Given the description of an element on the screen output the (x, y) to click on. 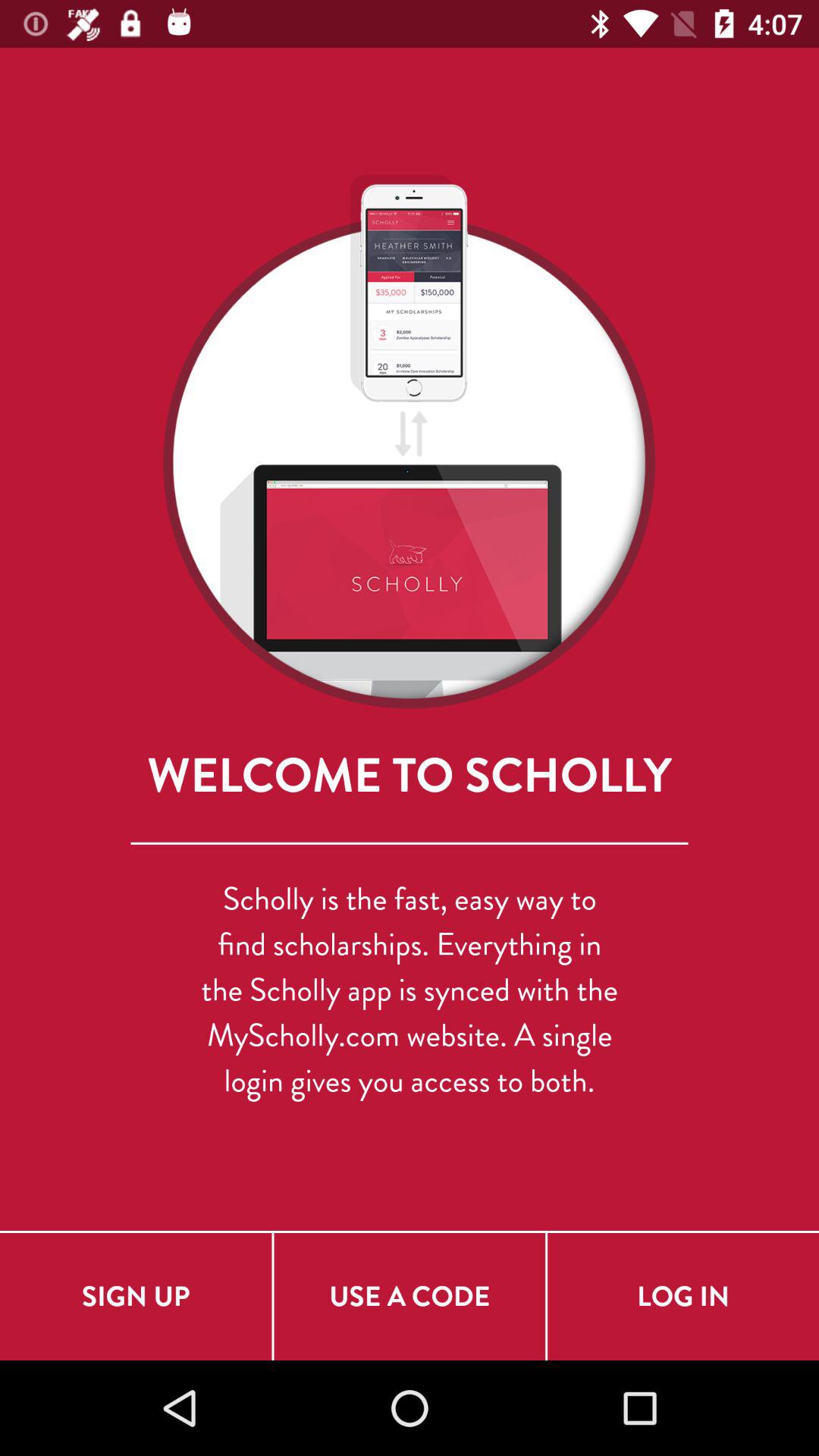
tap sign up (135, 1296)
